Given the description of an element on the screen output the (x, y) to click on. 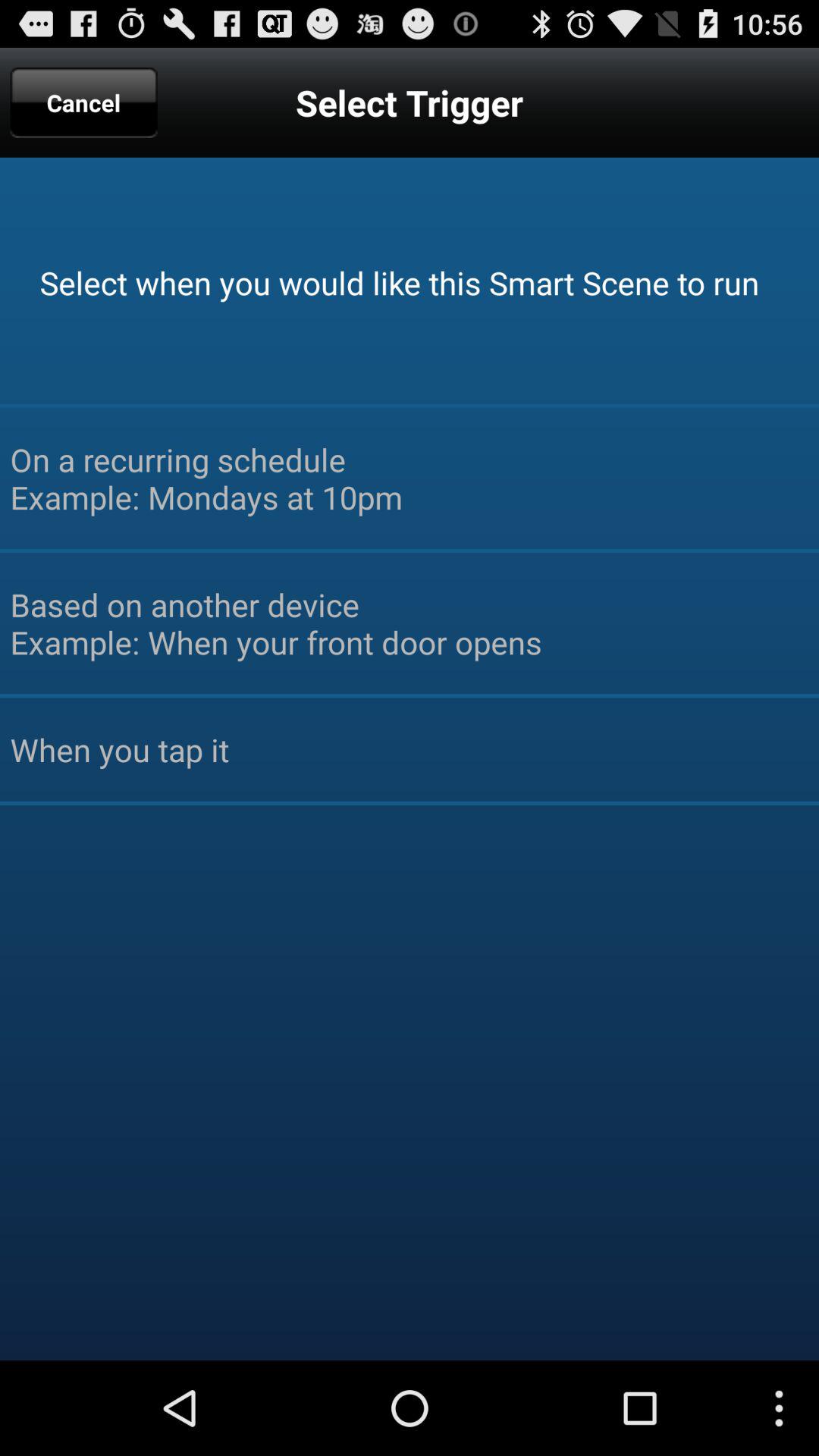
jump until the based on another (409, 622)
